Given the description of an element on the screen output the (x, y) to click on. 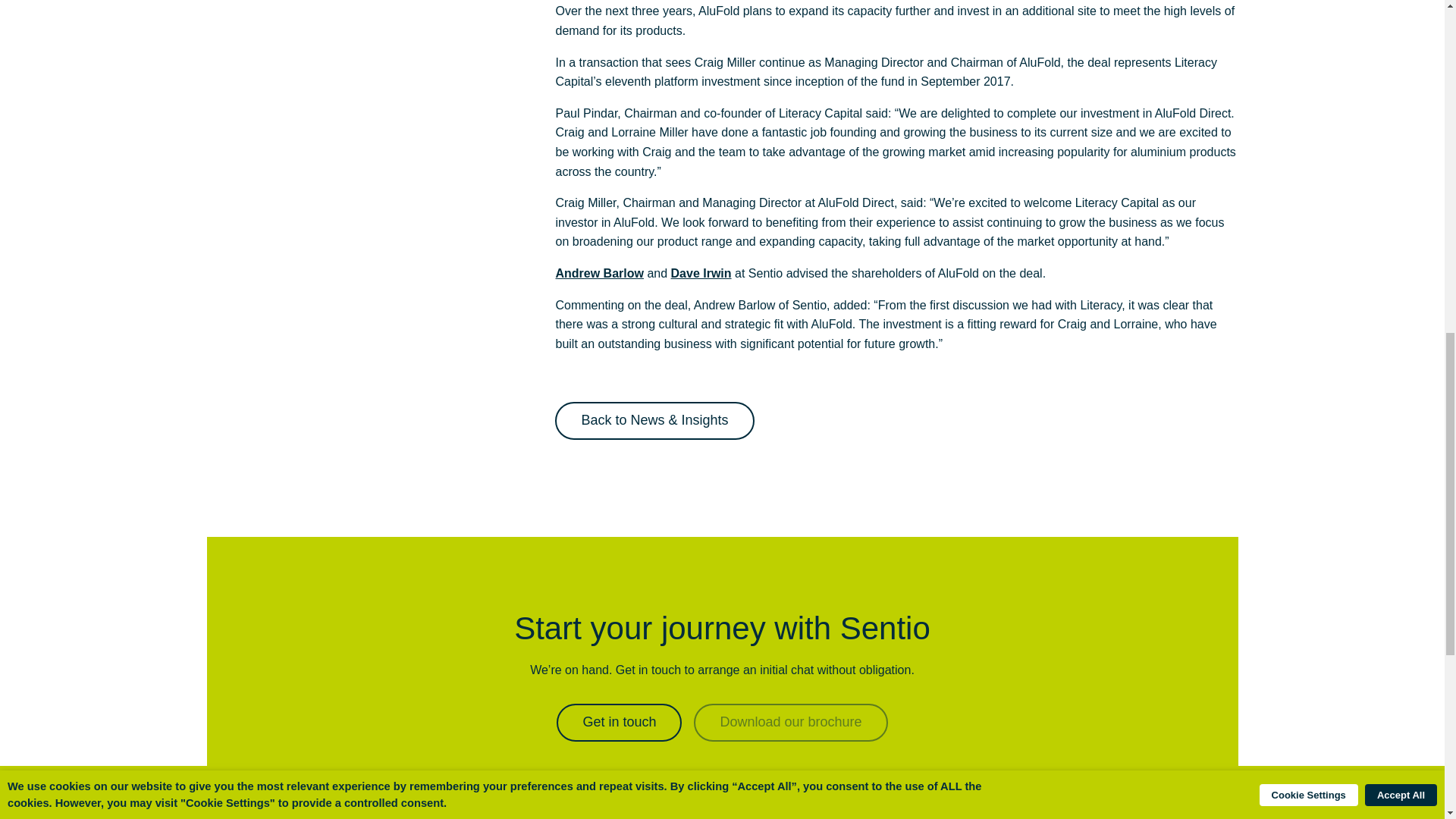
Dave Irwin (701, 273)
Download our brochure (790, 722)
Andrew Barlow (598, 273)
Get in touch (618, 722)
